Given the description of an element on the screen output the (x, y) to click on. 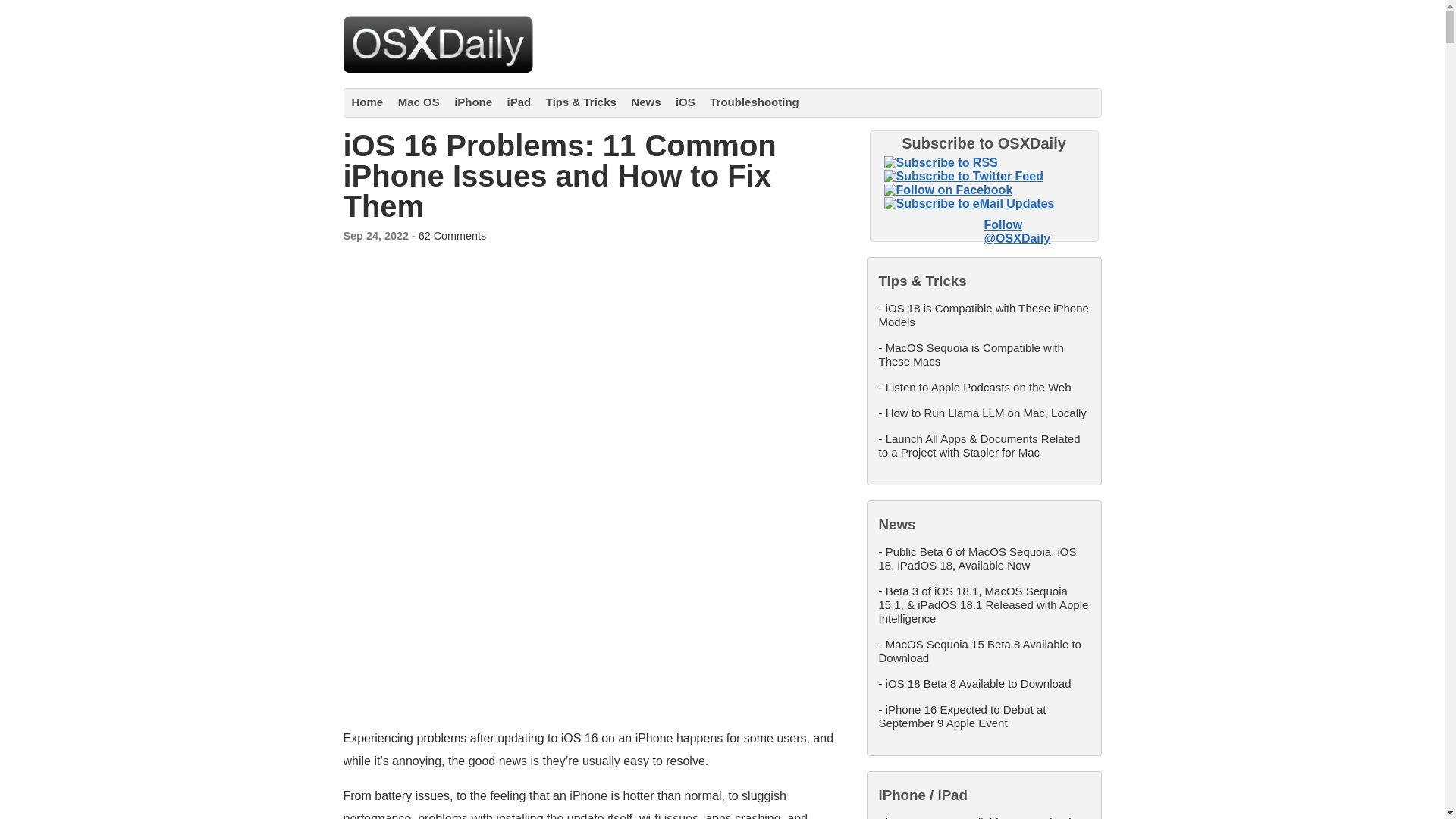
Home (368, 101)
62 Comments (452, 235)
Mac OS (418, 101)
Troubleshooting (754, 101)
iOS (685, 101)
News (645, 101)
iPhone (473, 101)
iPad (518, 101)
